Given the description of an element on the screen output the (x, y) to click on. 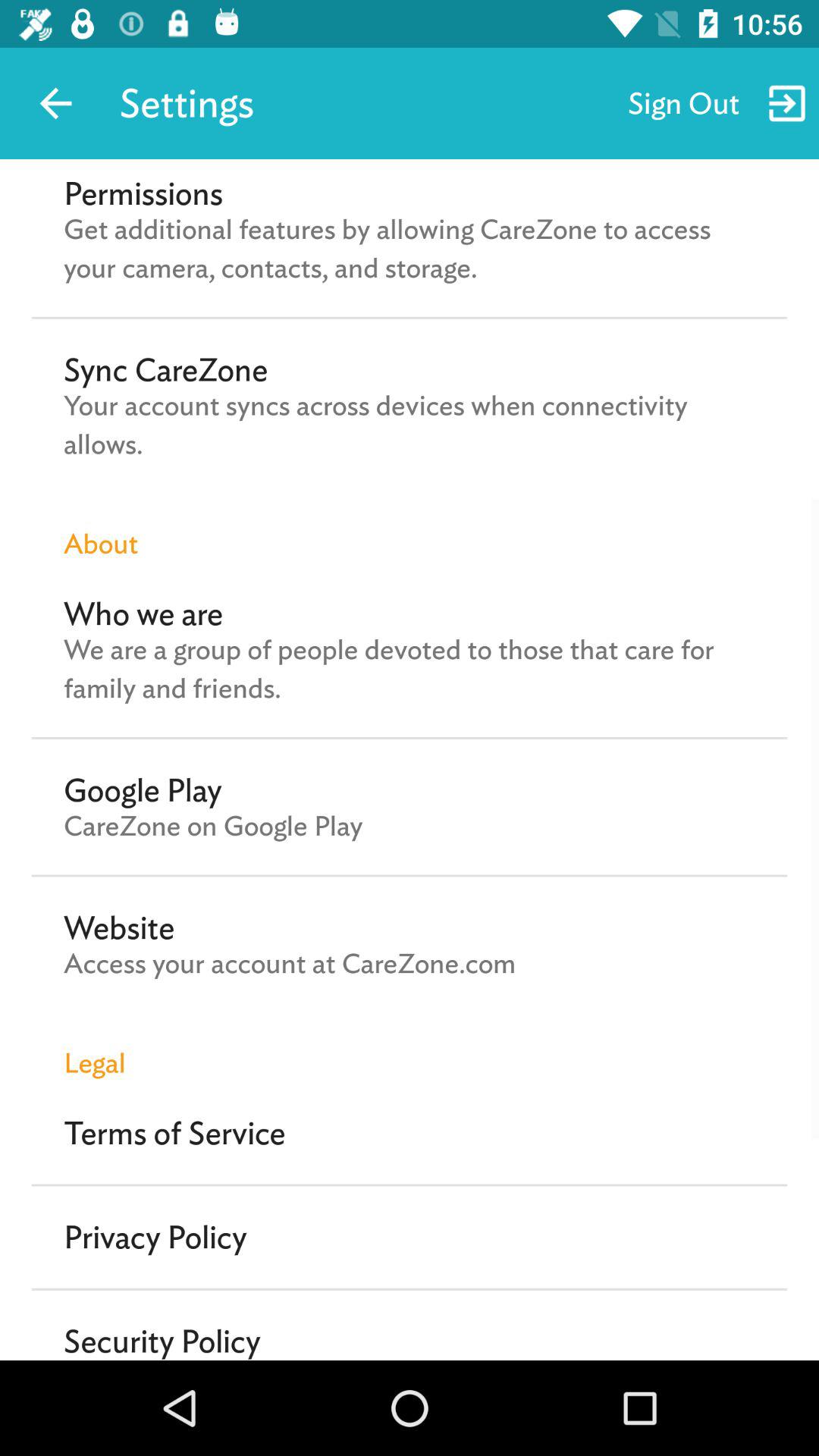
choose carezone on google (212, 825)
